Given the description of an element on the screen output the (x, y) to click on. 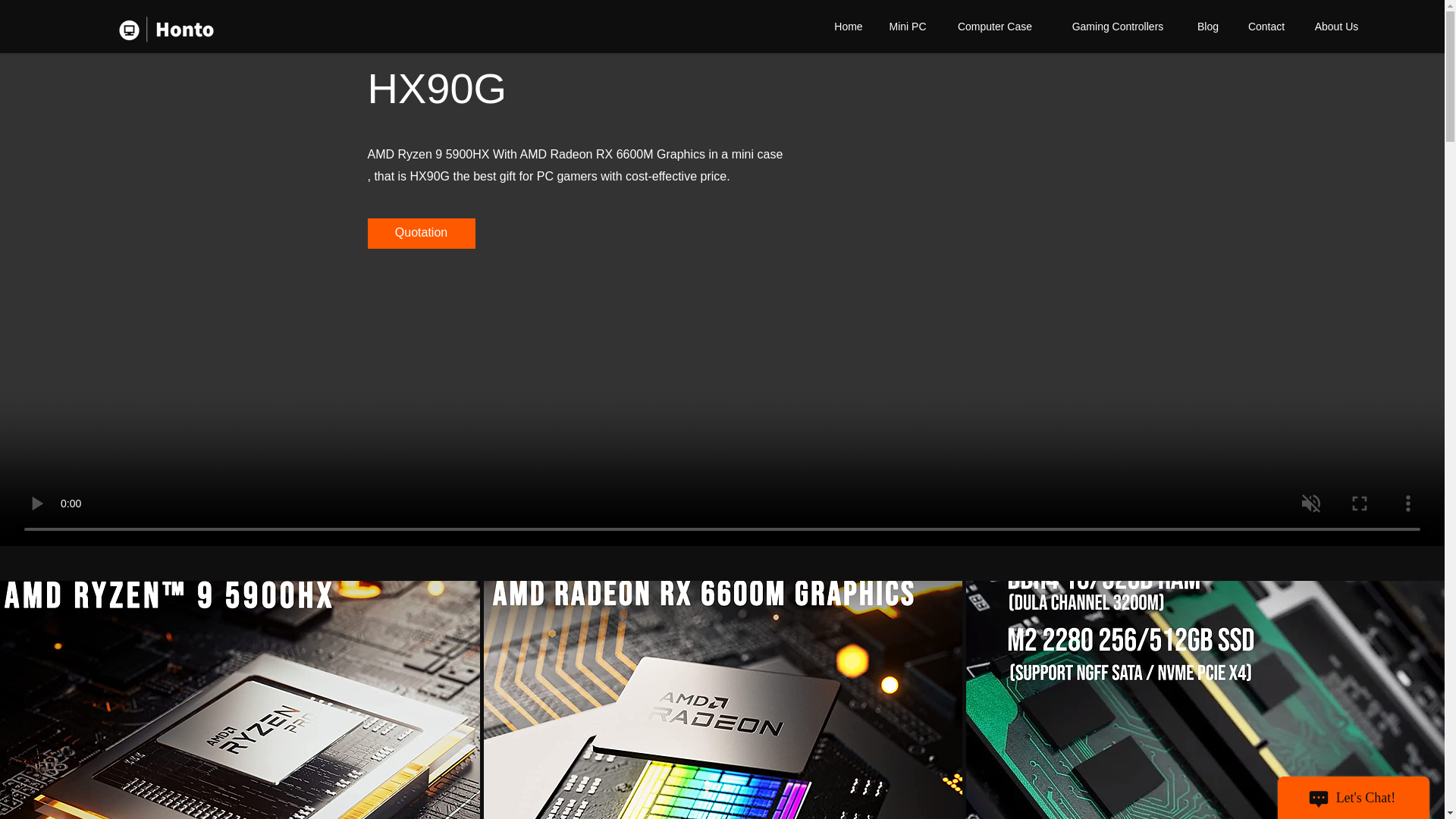
Blog (1207, 26)
Home (848, 26)
About Us (1336, 26)
Contact (1265, 26)
Quotation (420, 233)
